Given the description of an element on the screen output the (x, y) to click on. 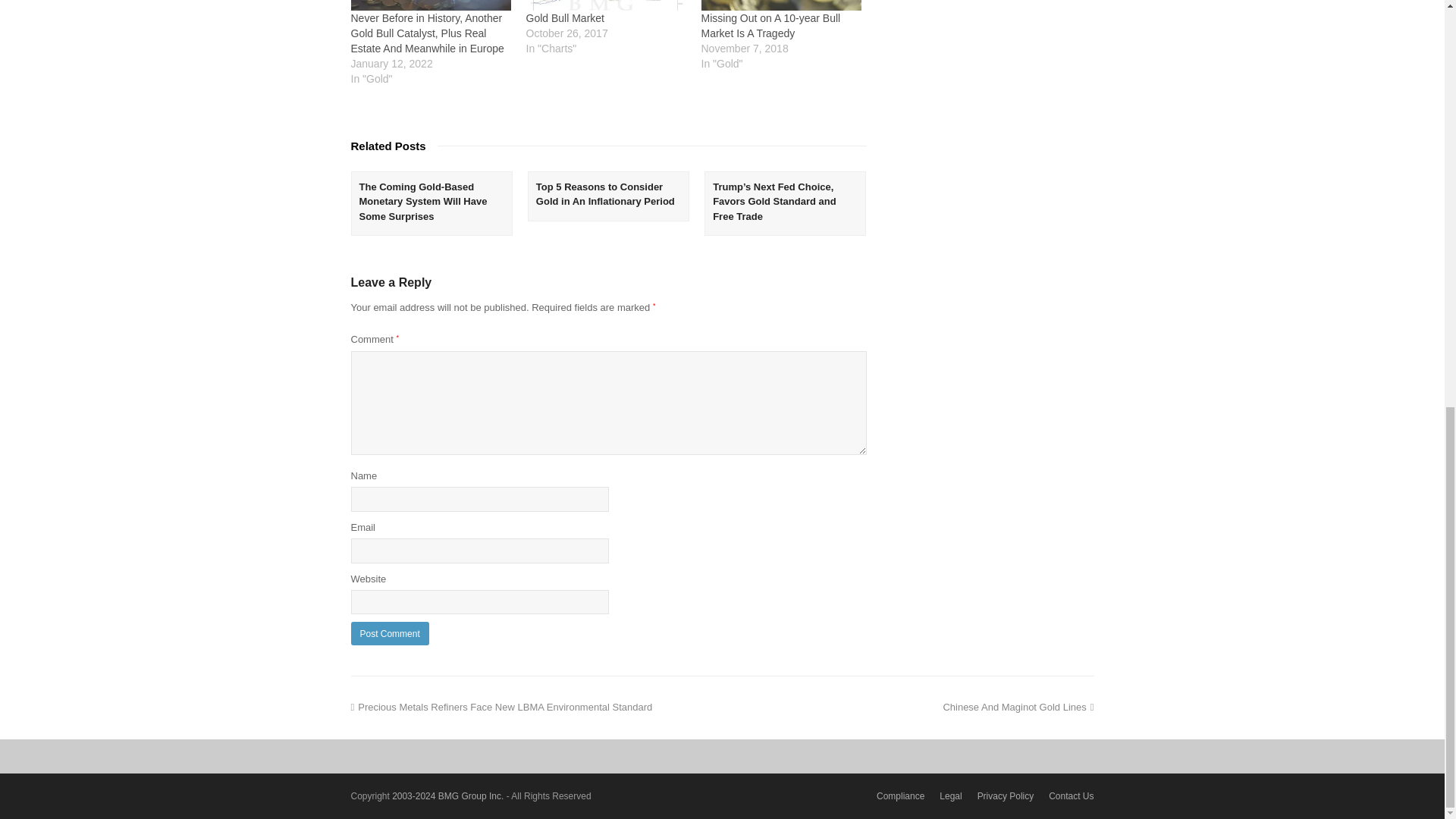
Gold Bull Market (605, 5)
Post Comment (389, 633)
Top 5 Reasons to Consider Gold in An Inflationary Period (605, 194)
Missing Out on A 10-year Bull Market Is A Tragedy (770, 25)
Gold Bull Market (564, 18)
